Given the description of an element on the screen output the (x, y) to click on. 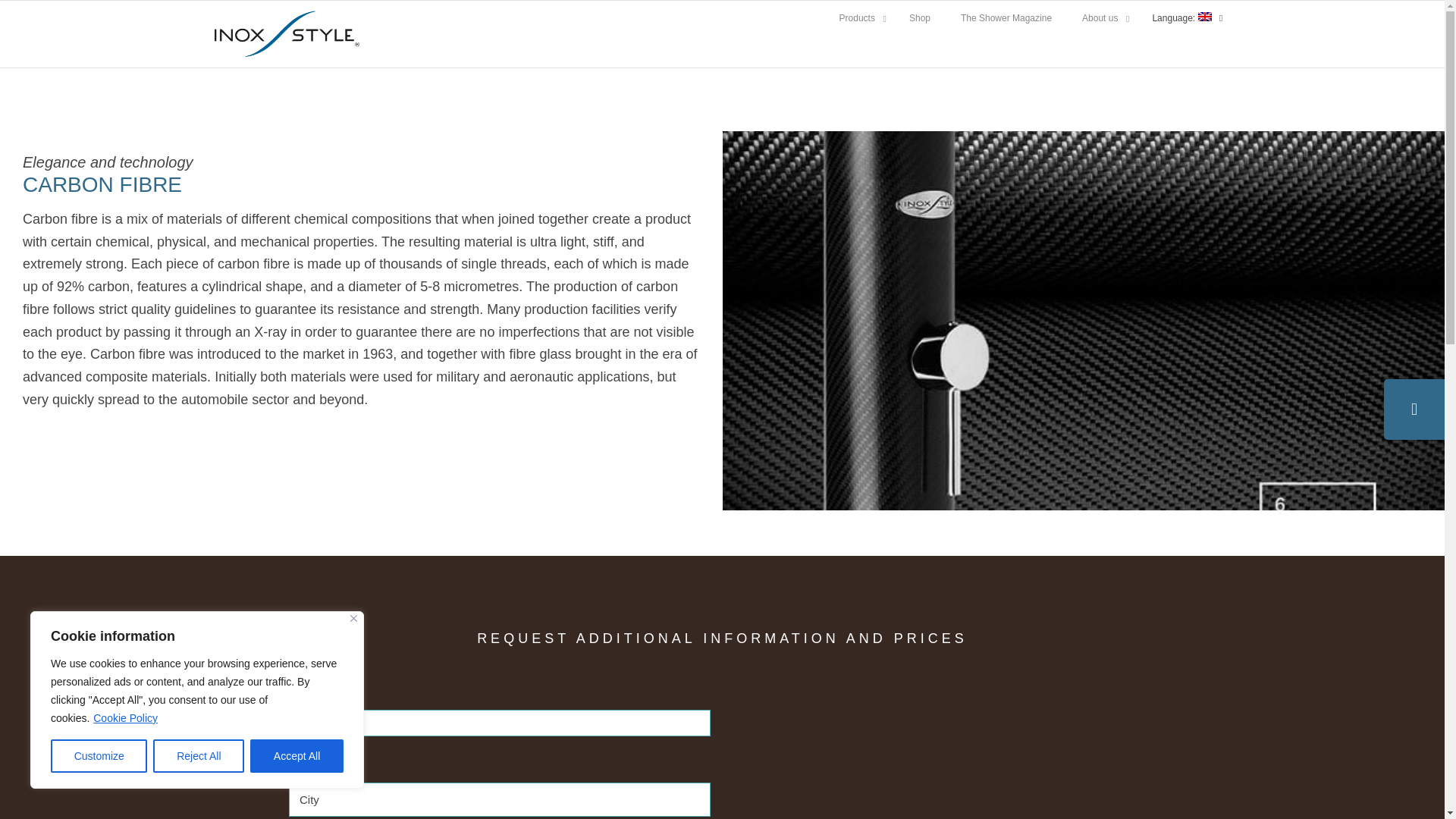
Language:  (1183, 18)
Cookie Policy (125, 717)
Accept All (296, 756)
Reject All (198, 756)
The Shower Magazine (1005, 18)
Shop (918, 18)
English (1183, 18)
About us (1027, 18)
Products (1102, 18)
Customize (858, 18)
